Given the description of an element on the screen output the (x, y) to click on. 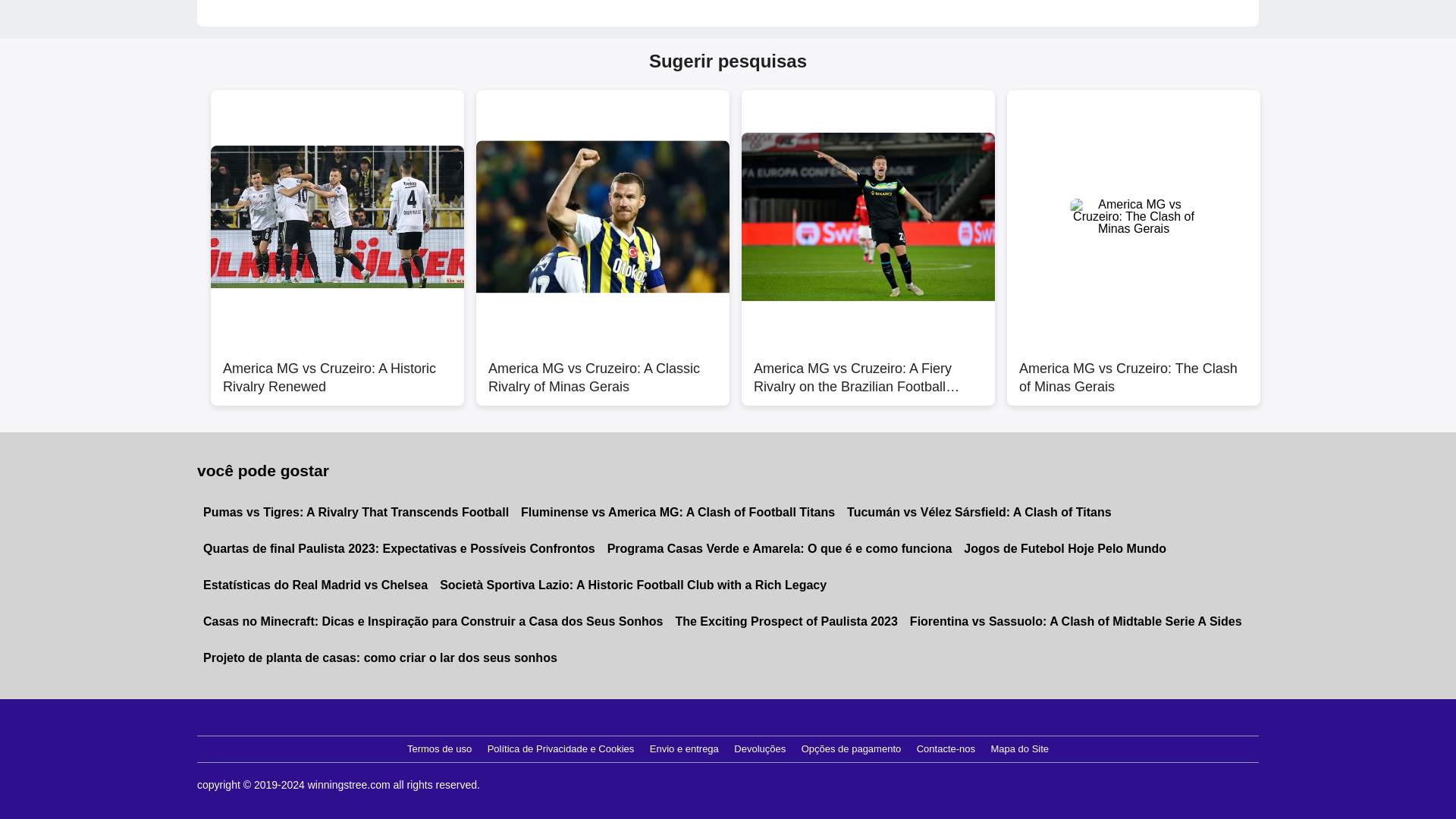
America MG vs Cruzeiro: The Clash of Minas Gerais (1133, 369)
Jogos de Futebol Hoje Pelo Mundo (1065, 548)
Termos de uso (439, 749)
The Exciting Prospect of Paulista 2023 (785, 621)
America MG vs Cruzeiro: A Classic Rivalry of Minas Gerais (602, 369)
Pumas vs Tigres: A Rivalry That Transcends Football (355, 512)
Fluminense vs America MG: A Clash of Football Titans (678, 512)
America MG vs Cruzeiro: A Historic Rivalry Renewed (337, 369)
Envio e entrega (684, 749)
Fiorentina vs Sassuolo: A Clash of Midtable Serie A Sides (1075, 621)
Projeto de planta de casas: como criar o lar dos seus sonhos (379, 657)
Contacte-nos (946, 749)
